Given the description of an element on the screen output the (x, y) to click on. 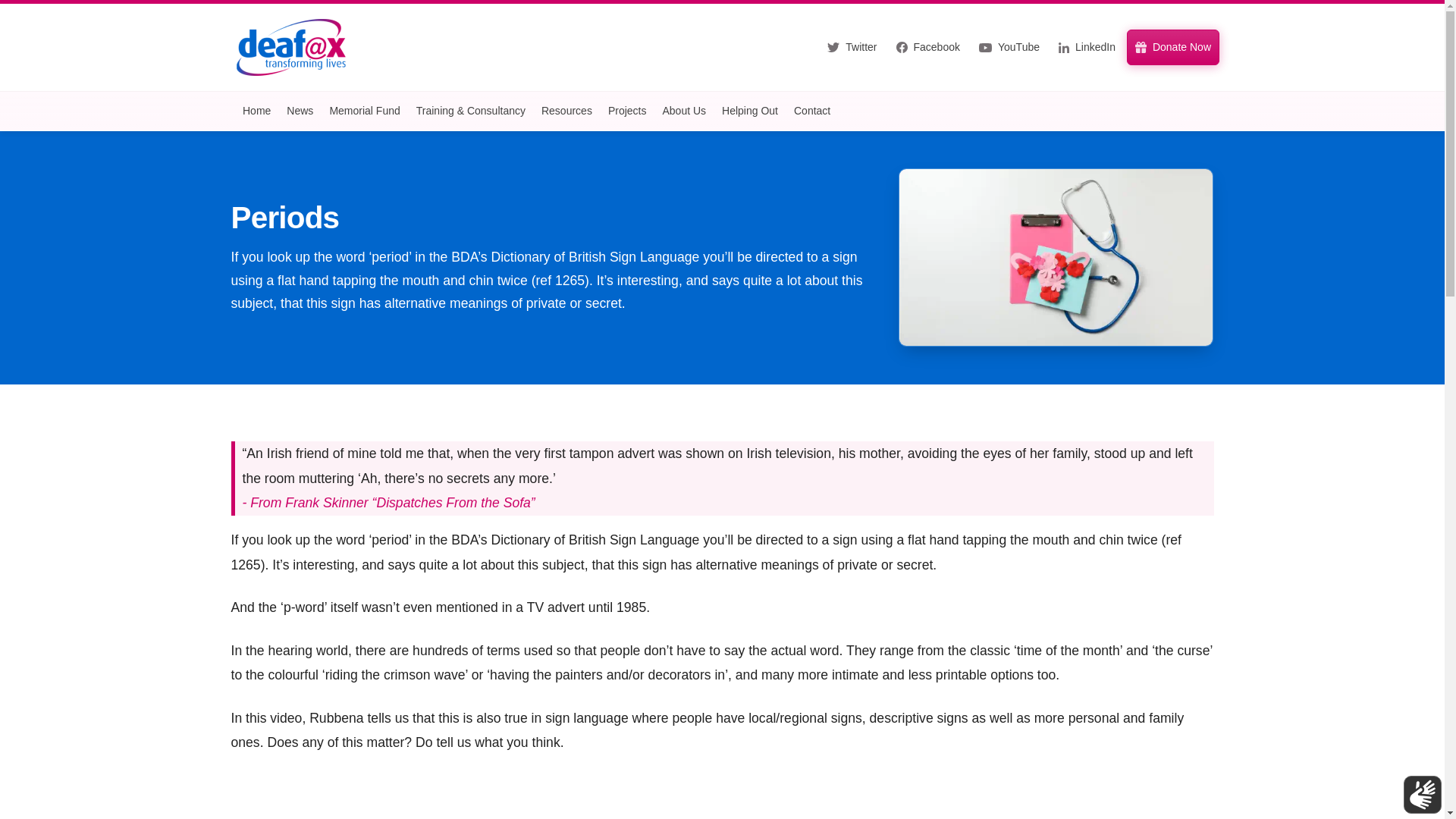
Contact (811, 110)
Twitter (851, 47)
Home (255, 110)
Resources (566, 110)
LinkedIn (1086, 47)
YouTube Video (721, 796)
Projects (627, 110)
Show sign language translation (1422, 794)
News (299, 110)
Projects (627, 110)
About Us (683, 110)
Home (255, 110)
Memorial Fund (364, 110)
Resources (566, 110)
Helping Out (750, 110)
